Given the description of an element on the screen output the (x, y) to click on. 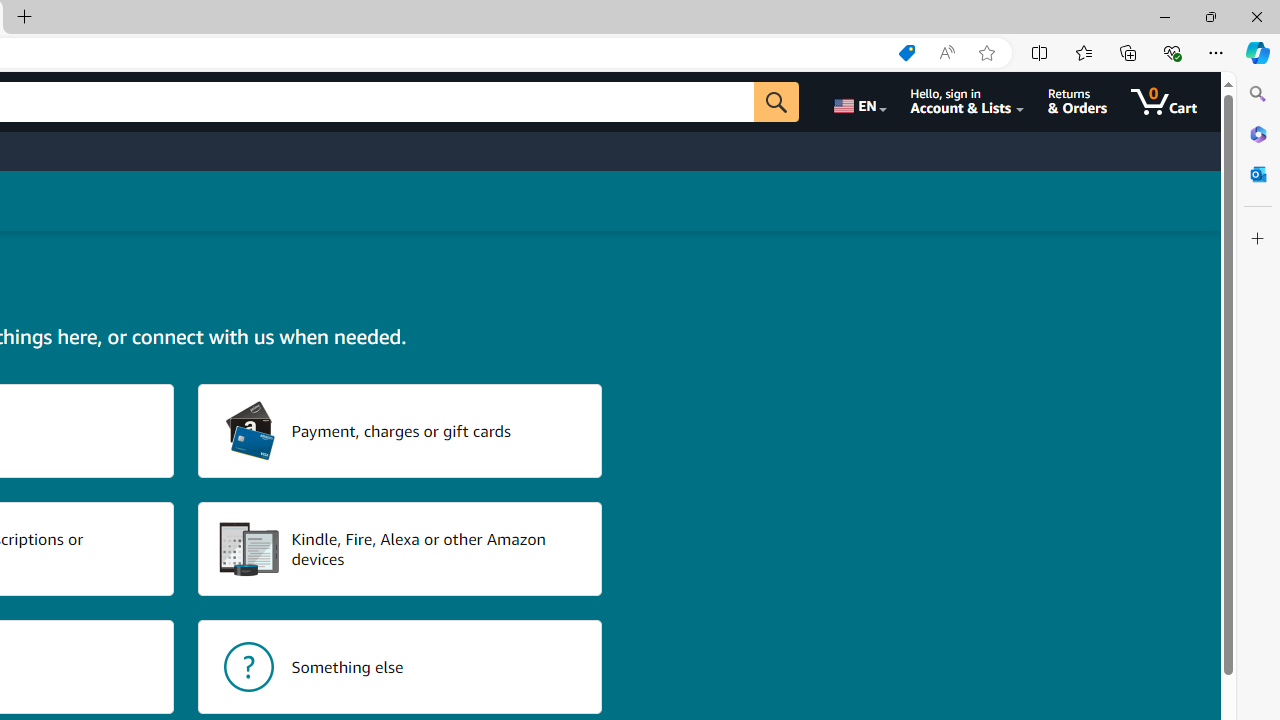
Something else (400, 666)
0 items in cart (1163, 101)
Returns & Orders (1077, 101)
